Given the description of an element on the screen output the (x, y) to click on. 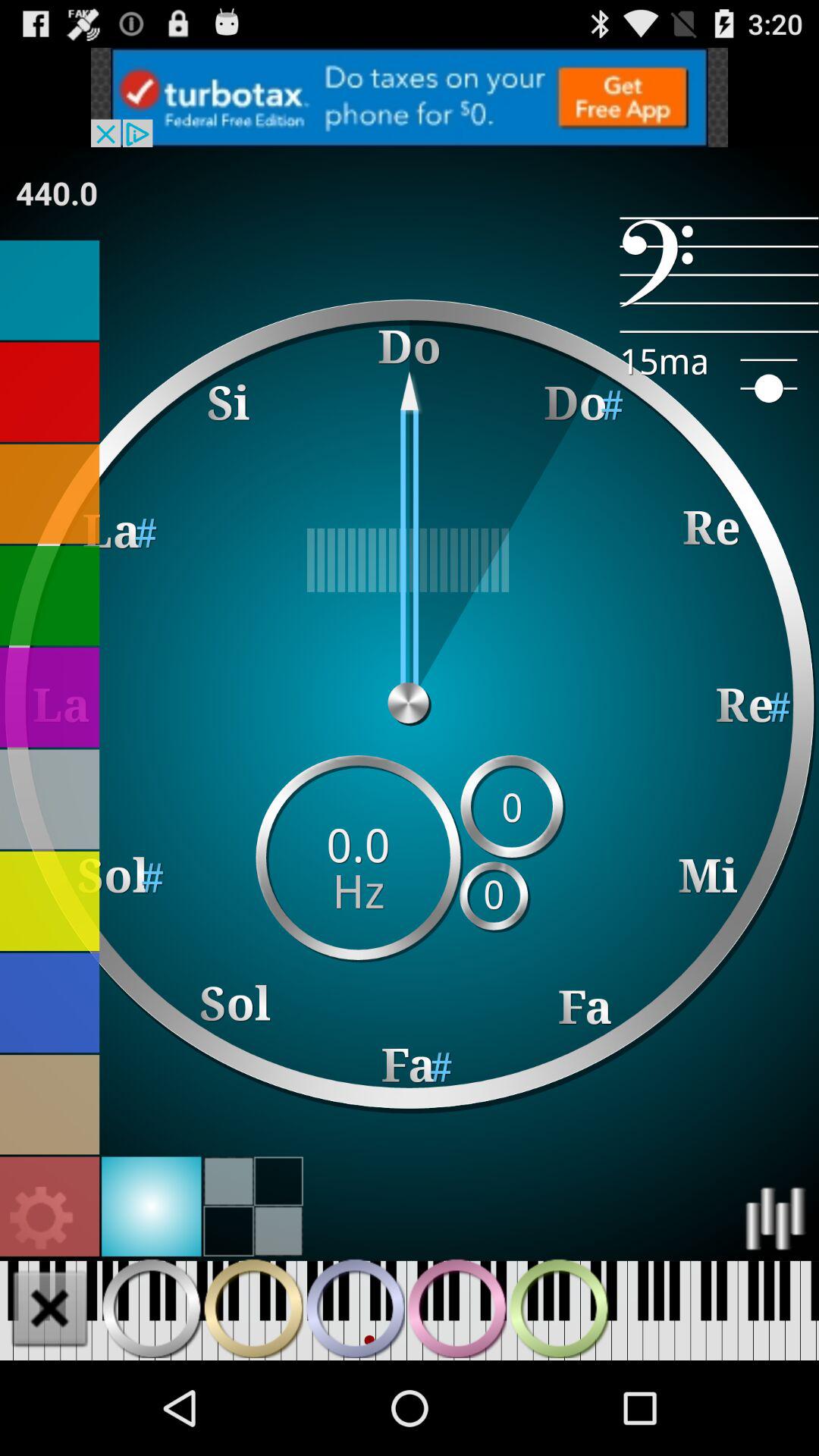
select color (49, 697)
